Given the description of an element on the screen output the (x, y) to click on. 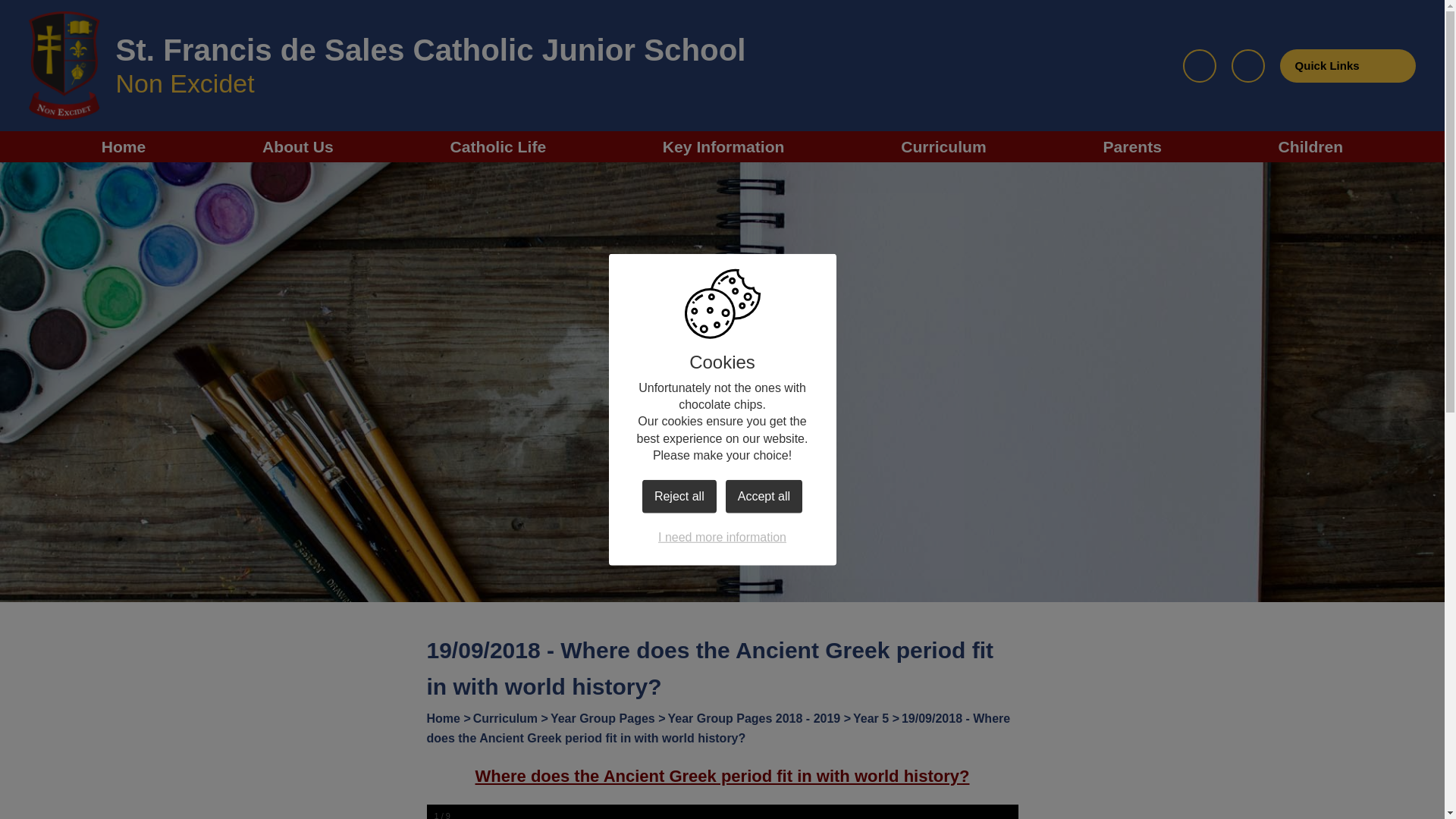
Home (124, 146)
Key Information (723, 146)
About Us (297, 146)
Catholic Life (497, 146)
Quick Links (1347, 65)
